Given the description of an element on the screen output the (x, y) to click on. 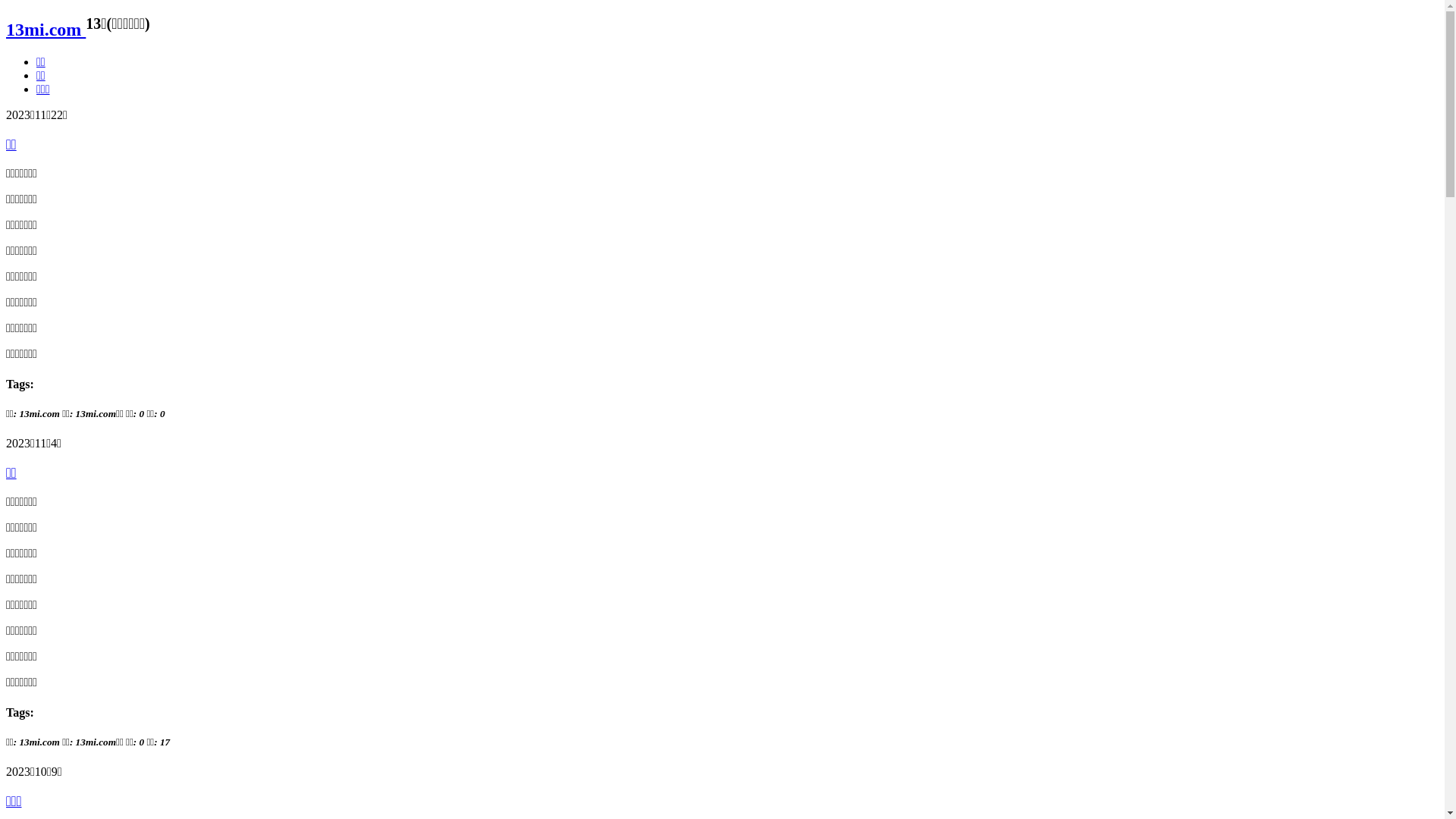
13mi.com Element type: text (45, 29)
